Given the description of an element on the screen output the (x, y) to click on. 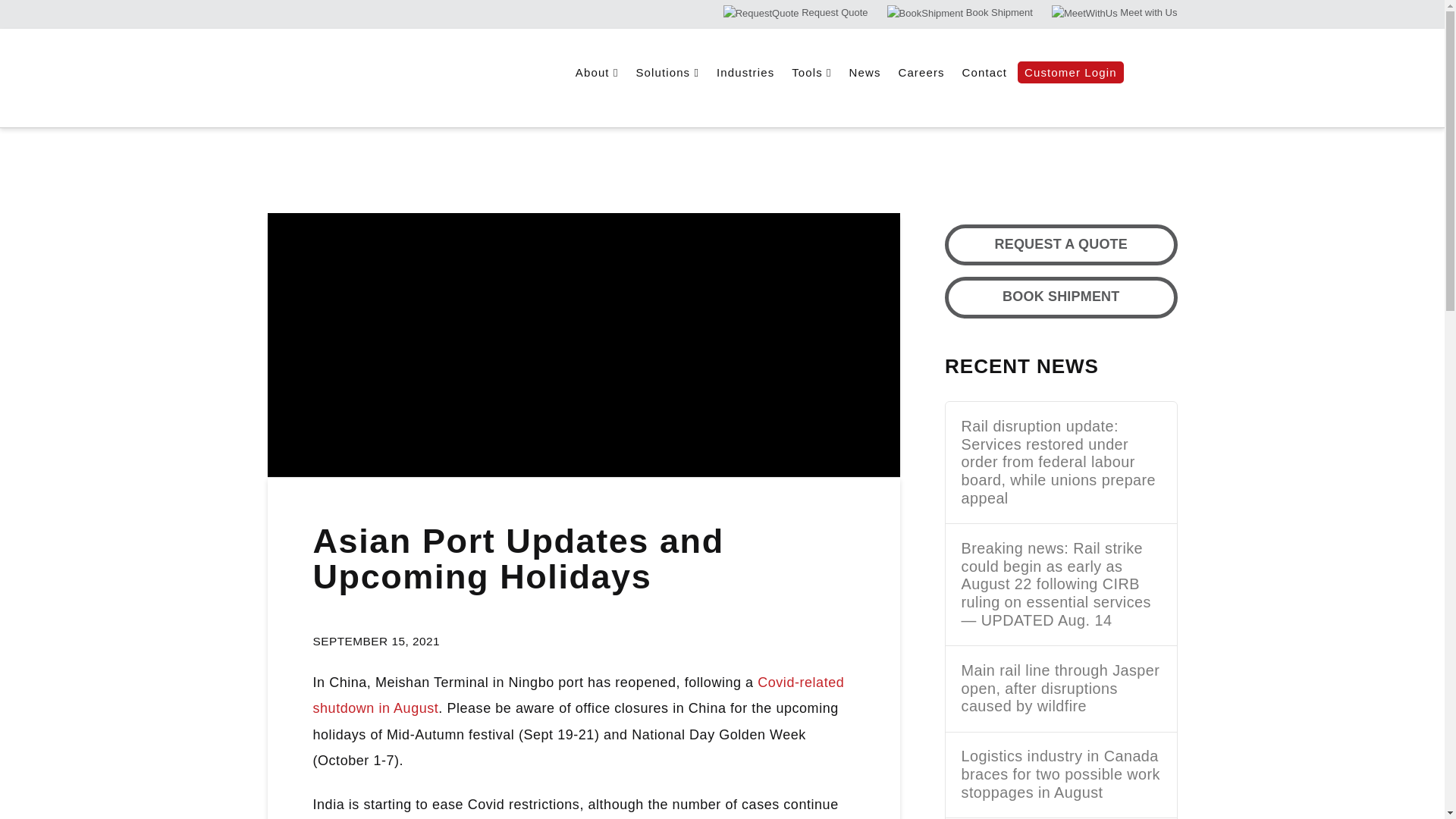
Solutions (666, 96)
About (596, 96)
Tools (811, 96)
Customer Login (1073, 96)
Meet with Us (1114, 12)
Request Quote (795, 12)
Careers (920, 96)
Industries (745, 96)
Book Shipment (959, 12)
Contact (983, 96)
